Given the description of an element on the screen output the (x, y) to click on. 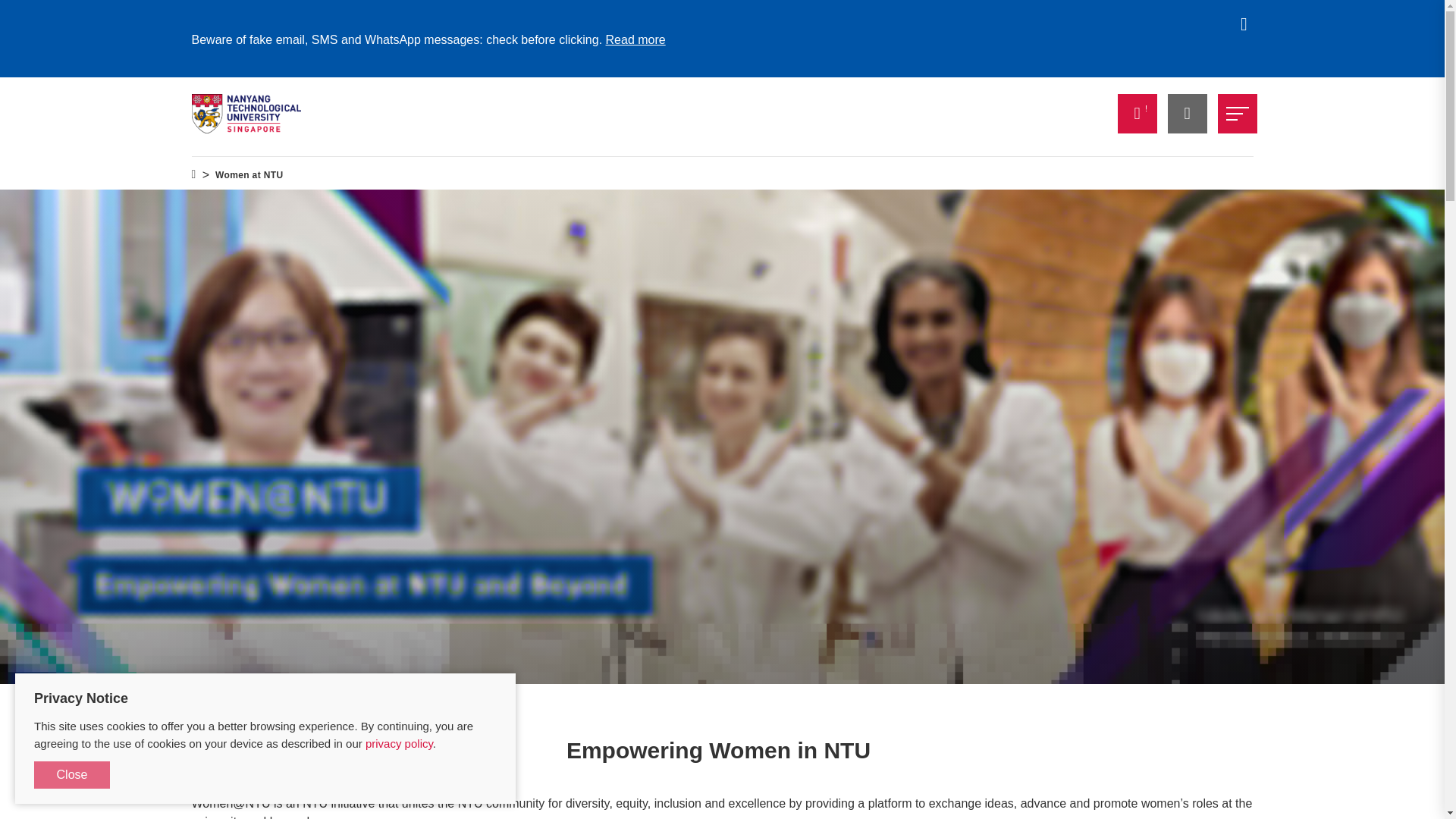
Nanyang Technological University (245, 113)
Read more (635, 39)
privacy policy (398, 743)
Close (71, 774)
